Given the description of an element on the screen output the (x, y) to click on. 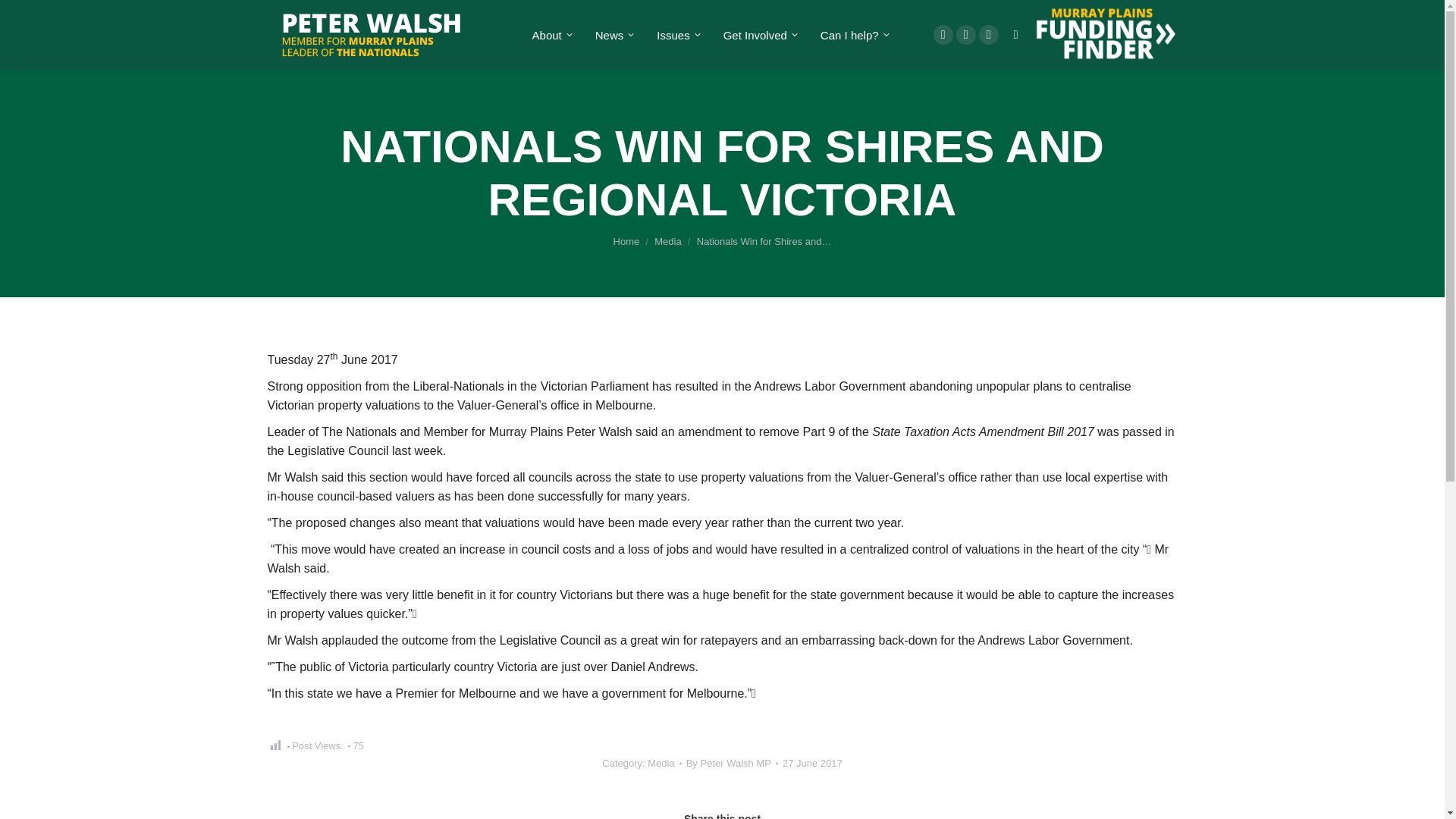
About (550, 34)
Can I help? (852, 34)
Home (626, 241)
Go! (24, 16)
X page opens in new window (965, 35)
Facebook page opens in new window (943, 35)
Facebook page opens in new window (943, 35)
Get Involved (758, 34)
Media (667, 241)
Instagram page opens in new window (988, 35)
X page opens in new window (965, 35)
News (612, 34)
Instagram page opens in new window (988, 35)
Issues (676, 34)
